Given the description of an element on the screen output the (x, y) to click on. 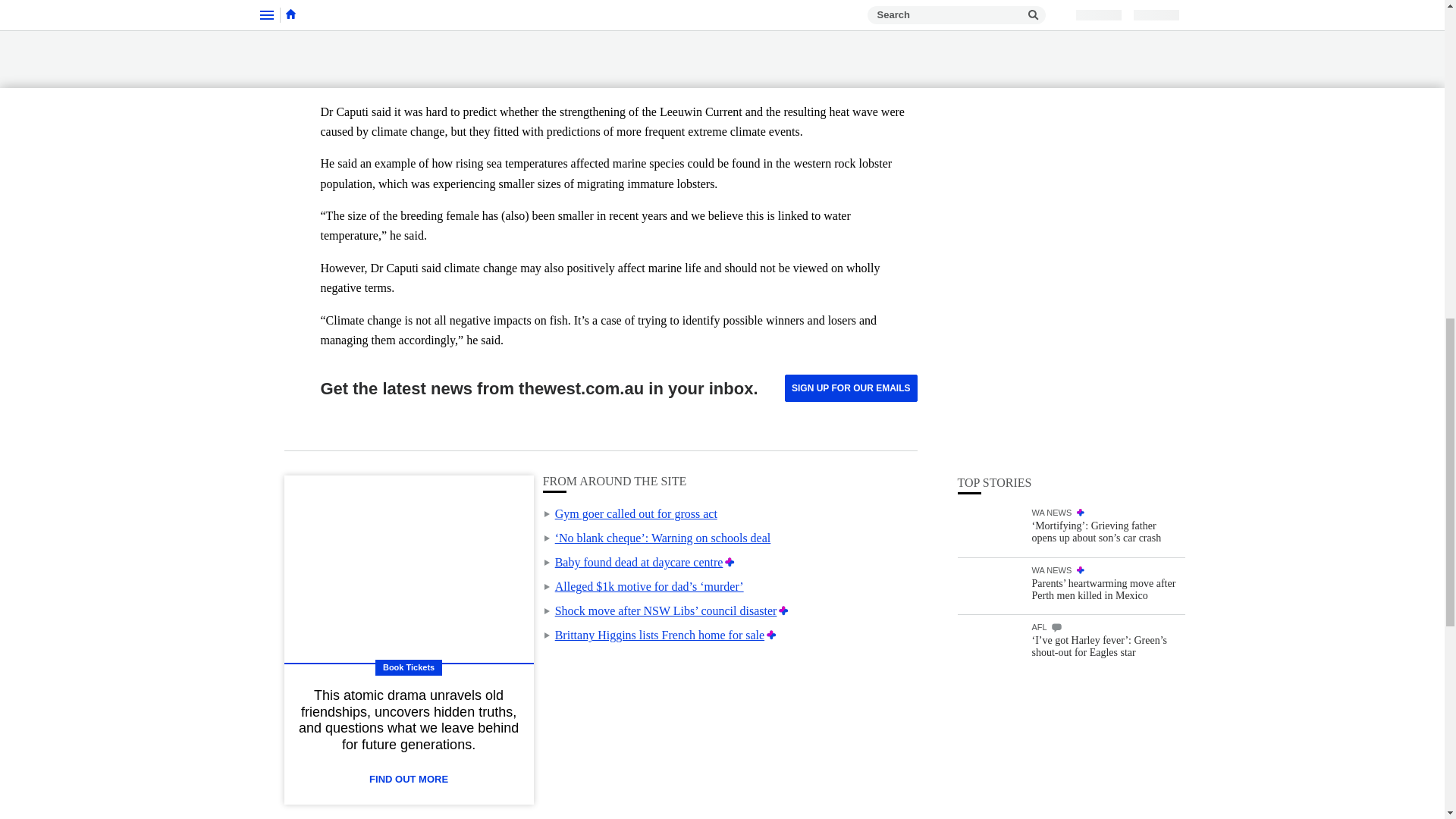
Premium (783, 610)
COMMENTS (1056, 225)
Premium (771, 634)
PREMIUM (1080, 168)
Premium (729, 562)
PREMIUM (1080, 111)
